Given the description of an element on the screen output the (x, y) to click on. 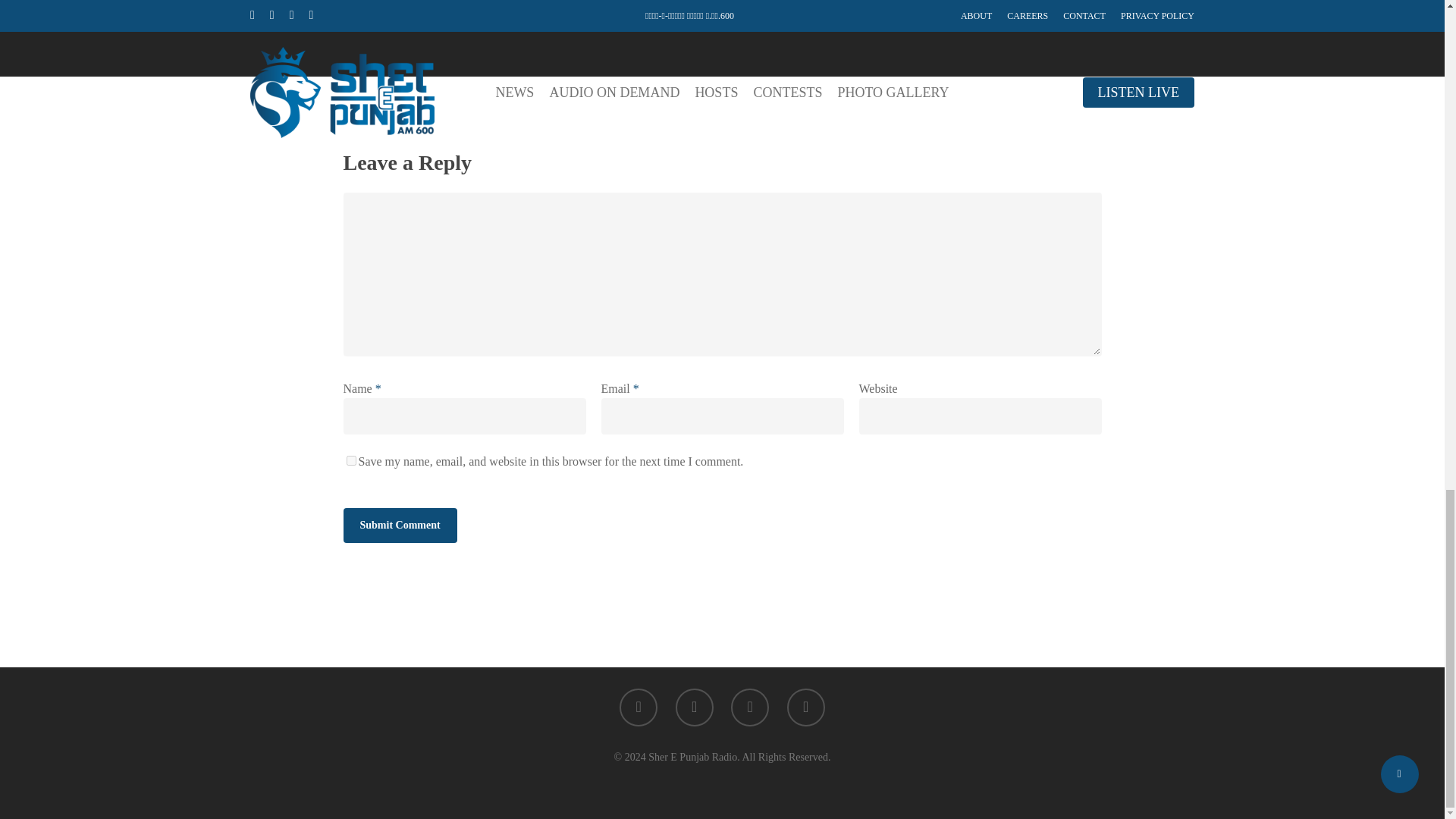
yes (350, 460)
Submit Comment (399, 524)
Submit Comment (399, 524)
